Given the description of an element on the screen output the (x, y) to click on. 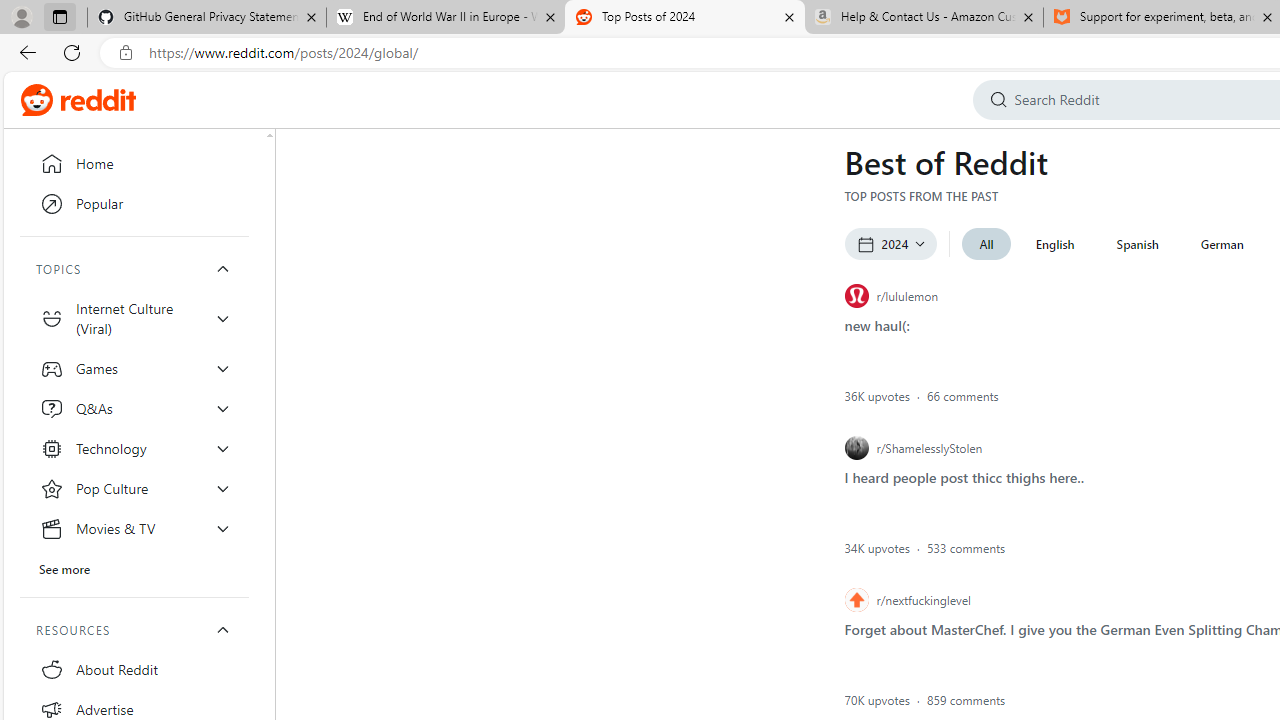
Spanish (1137, 243)
Movies & TV (134, 528)
r/nextfuckinglevel icon (856, 600)
